Given the description of an element on the screen output the (x, y) to click on. 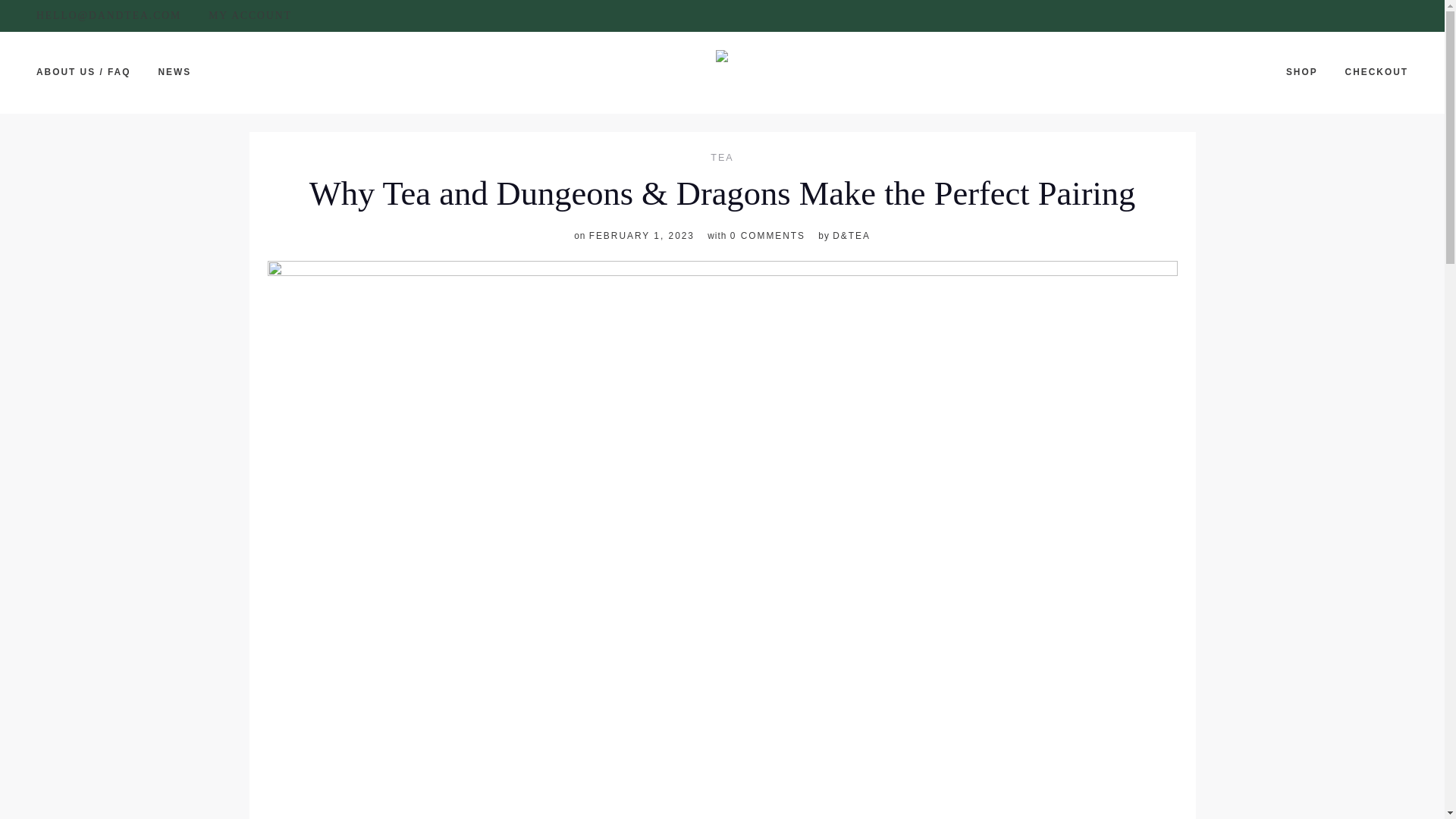
NEWS (173, 72)
TEA (721, 158)
CHECKOUT (1376, 72)
0 COMMENTS (767, 235)
MY ACCOUNT (250, 15)
SHOP (1301, 72)
